Given the description of an element on the screen output the (x, y) to click on. 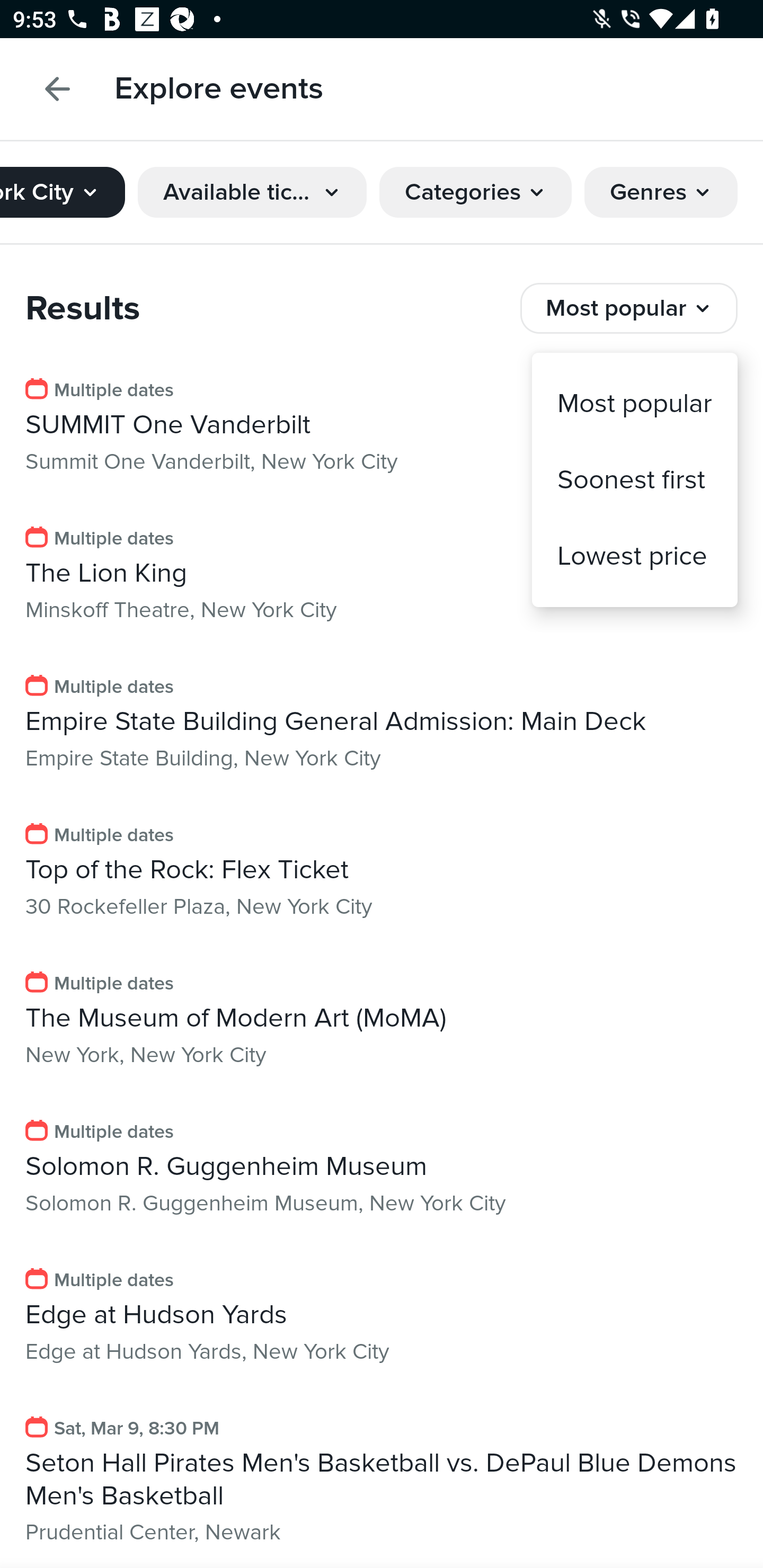
Most popular (634, 403)
Soonest first (634, 479)
Lowest price (634, 555)
